Given the description of an element on the screen output the (x, y) to click on. 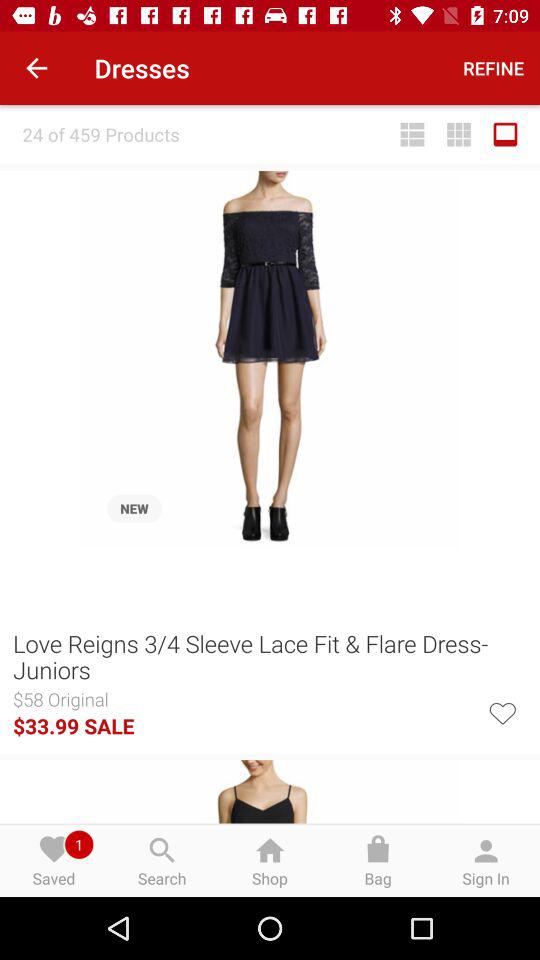
click the item below the refine (459, 134)
